Given the description of an element on the screen output the (x, y) to click on. 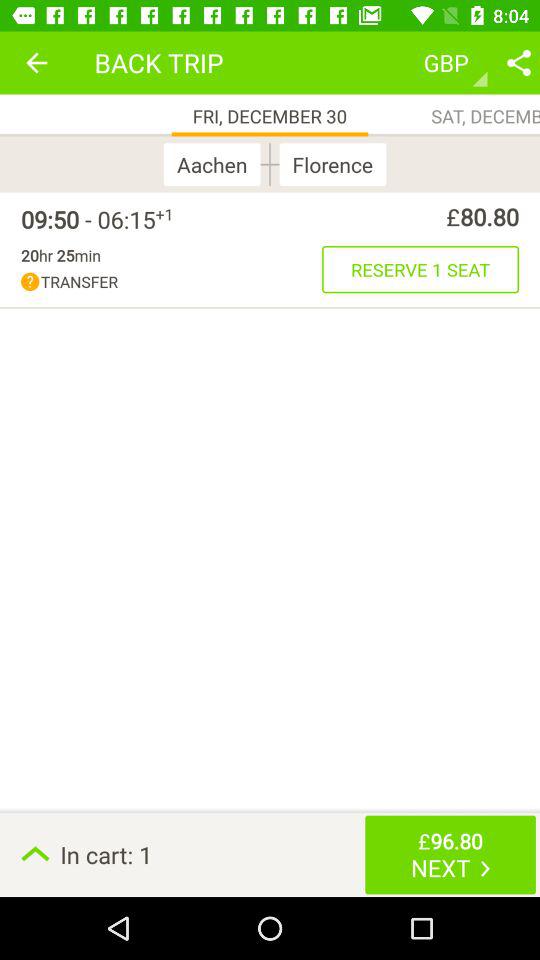
turn on item next to the transfer icon (420, 269)
